Given the description of an element on the screen output the (x, y) to click on. 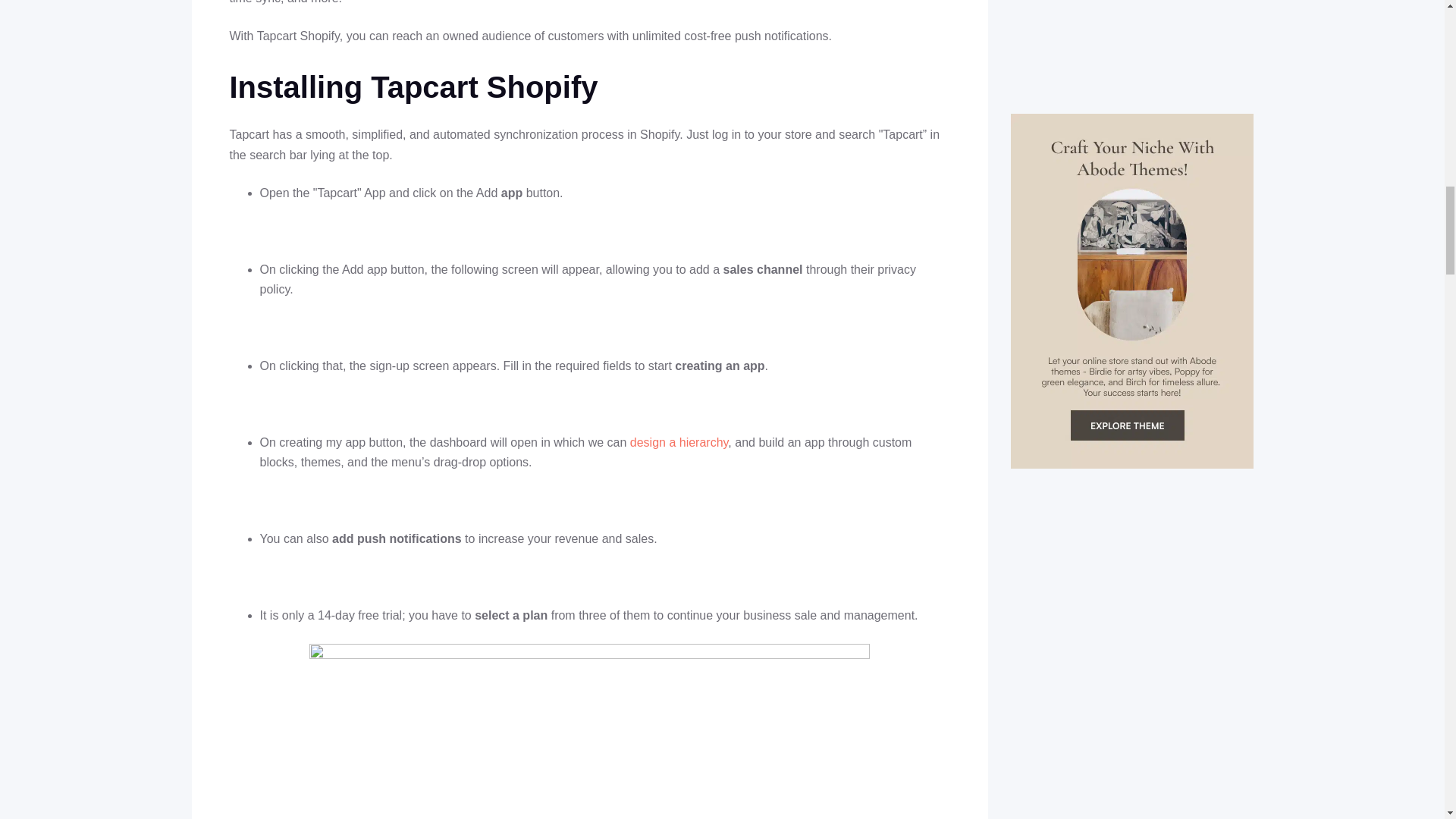
design a hierarchy (679, 441)
